Given the description of an element on the screen output the (x, y) to click on. 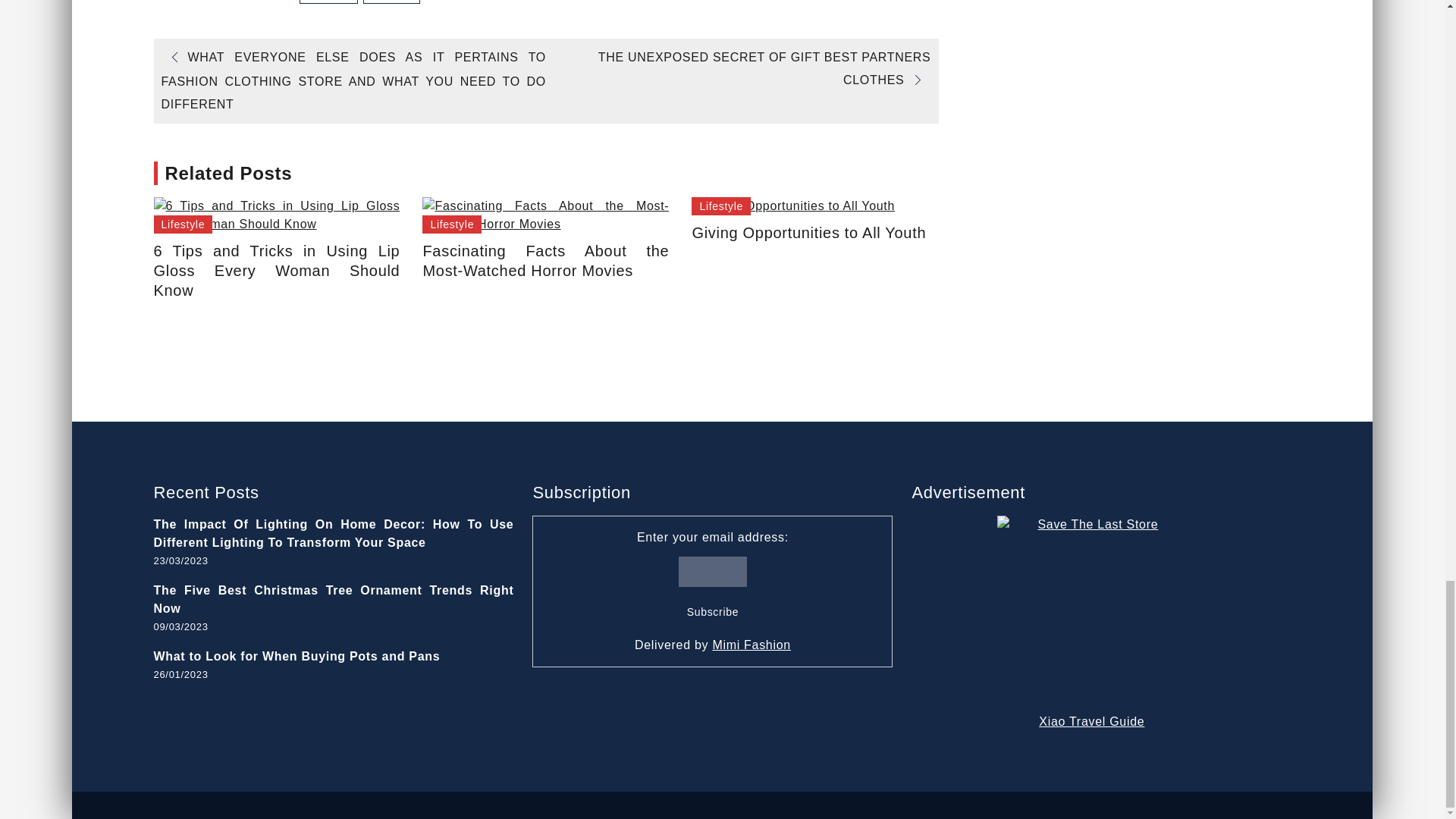
Fascinating Facts About the Most-Watched Horror Movies (545, 215)
Lifestyle (721, 206)
Fascinating Facts About the Most-Watched Horror Movies (545, 260)
Lifestyle (182, 224)
Lifestyle (391, 2)
Subscribe (713, 612)
Giving Opportunities to All Youth (793, 206)
Fashion (328, 2)
6 Tips and Tricks in Using Lip Gloss Every Woman Should Know (275, 215)
